Given the description of an element on the screen output the (x, y) to click on. 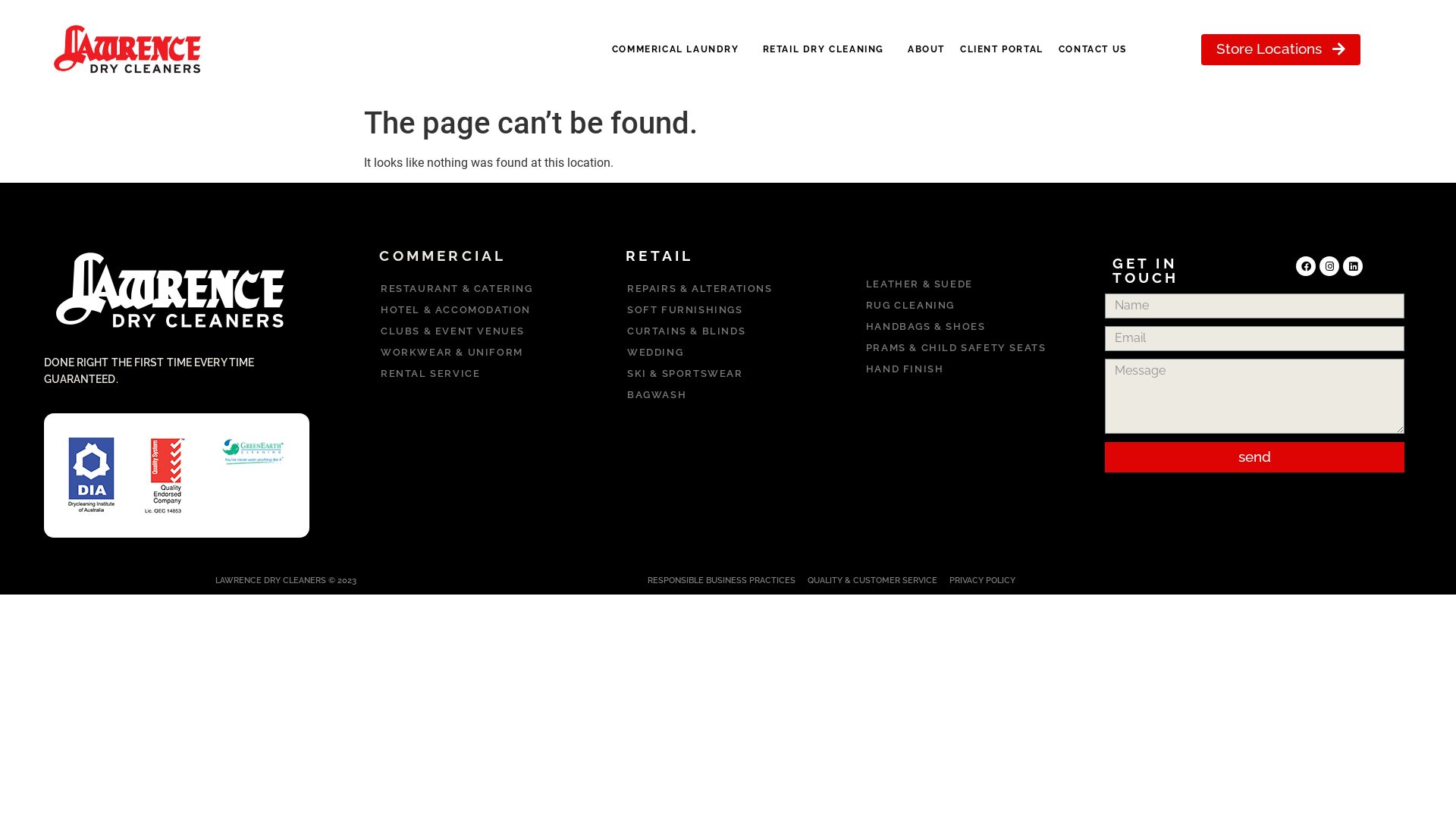
CONTACT US Element type: text (1092, 48)
SKI & SPORTSWEAR Element type: text (727, 373)
QUALITY & CUSTOMER SERVICE Element type: text (872, 580)
HANDBAGS & SHOES Element type: text (973, 326)
RESPONSIBLE BUSINESS PRACTICES Element type: text (721, 580)
BAGWASH Element type: text (727, 394)
PRIVACY POLICY Element type: text (982, 580)
RESTAURANT & CATERING Element type: text (480, 288)
WORKWEAR & UNIFORM Element type: text (480, 352)
REPAIRS & ALTERATIONS Element type: text (727, 288)
ABOUT Element type: text (926, 48)
CURTAINS & BLINDS Element type: text (727, 331)
LEATHER & SUEDE Element type: text (973, 283)
WEDDING Element type: text (727, 352)
PRAMS & CHILD SAFETY SEATS Element type: text (973, 347)
HOTEL & ACCOMODATION Element type: text (480, 309)
Store Locations Element type: text (1280, 49)
RUG CLEANING Element type: text (973, 305)
SOFT FURNISHINGS Element type: text (727, 309)
COMMERICAL LAUNDRY Element type: text (679, 48)
CLIENT PORTAL Element type: text (1001, 48)
HAND FINISH Element type: text (973, 368)
RETAIL DRY CLEANING Element type: text (827, 48)
CLUBS & EVENT VENUES Element type: text (480, 331)
send Element type: text (1254, 457)
RENTAL SERVICE Element type: text (480, 373)
